Given the description of an element on the screen output the (x, y) to click on. 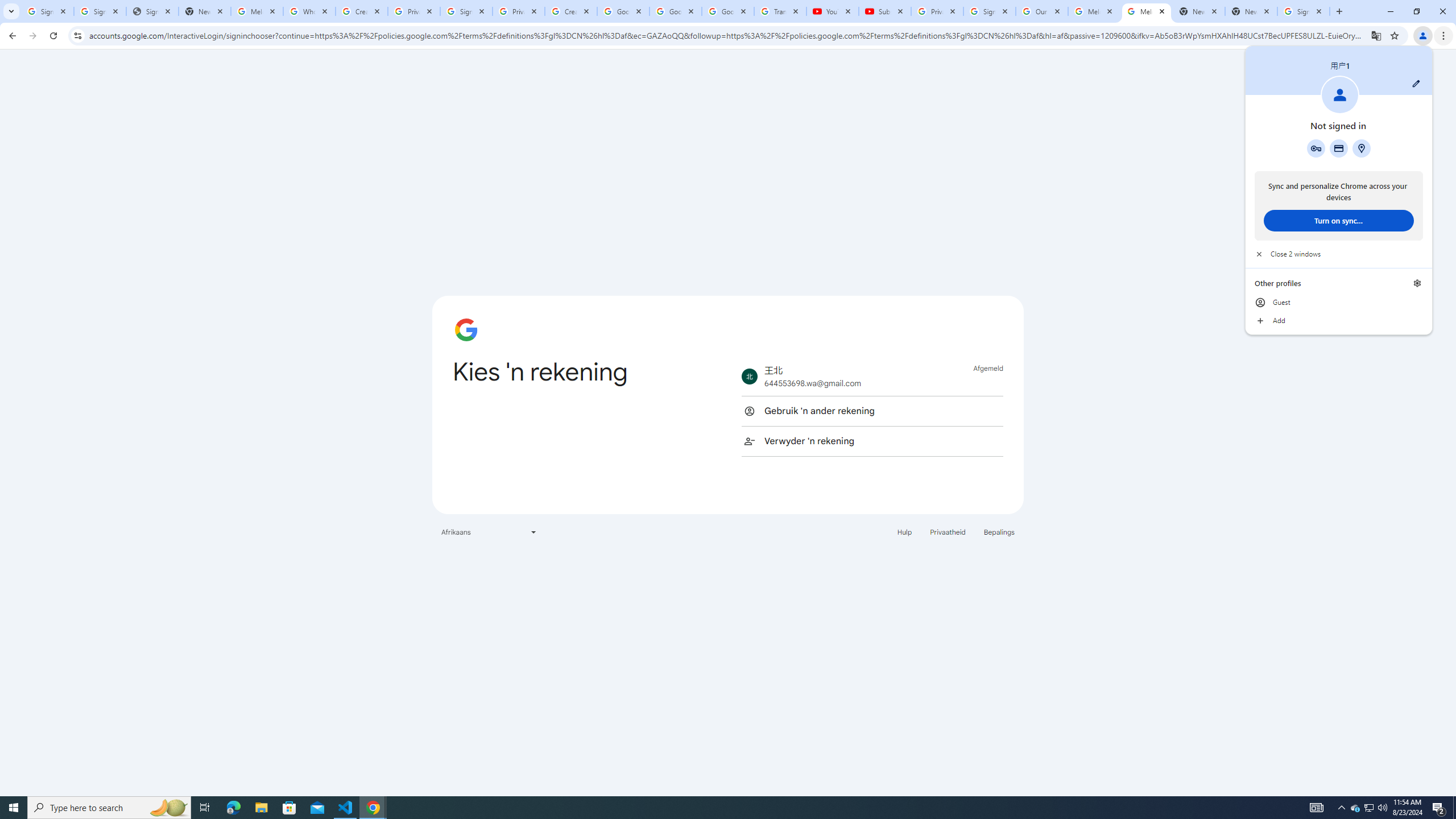
Options (59, 753)
Sign in (1226, 17)
Transform (59, 567)
Folders (560, 127)
Browse (288, 321)
Info (59, 318)
